Given the description of an element on the screen output the (x, y) to click on. 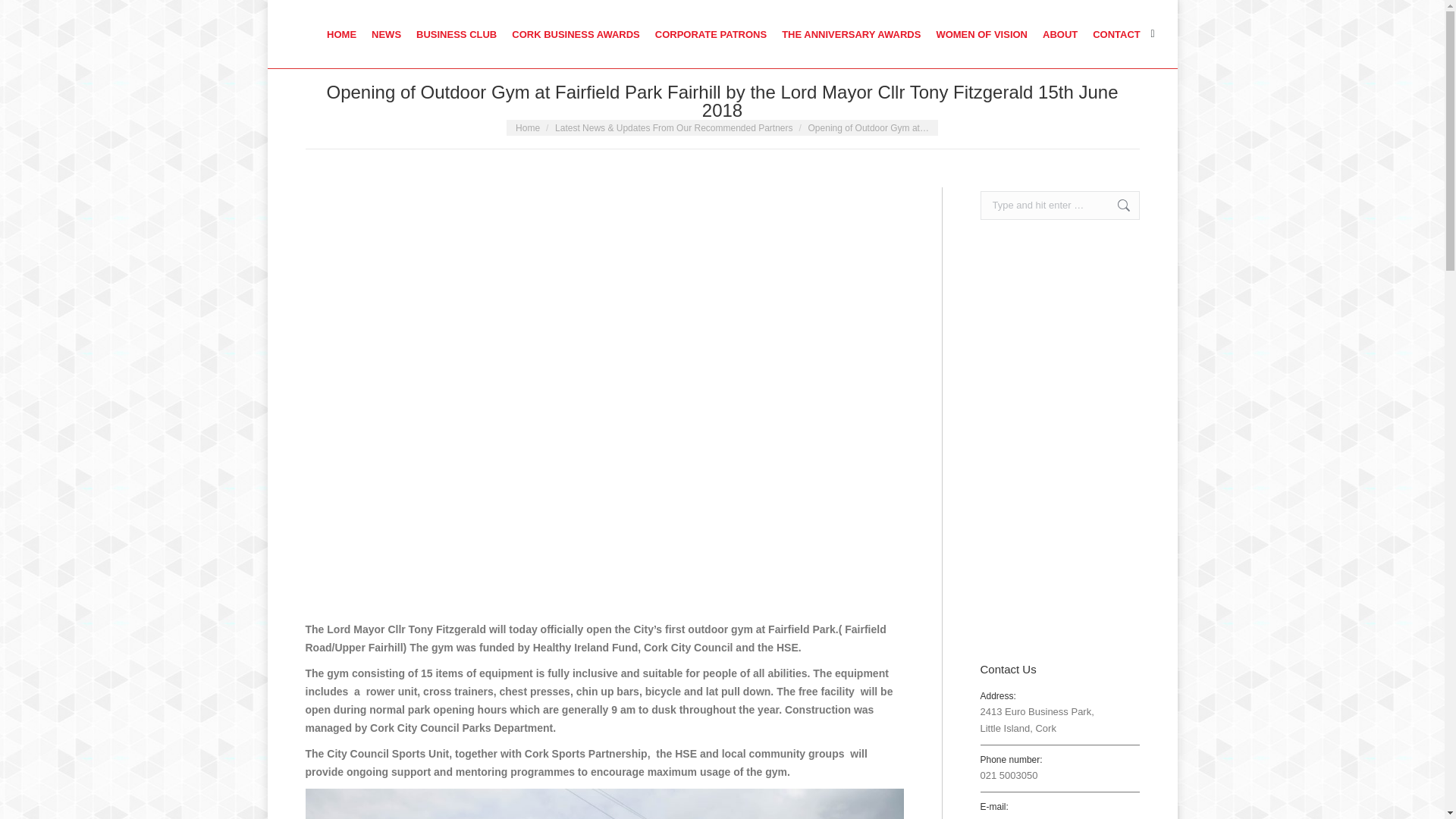
BUSINESS CLUB (456, 33)
CORPORATE PATRONS (710, 33)
Home (527, 127)
Go! (22, 15)
CORK BUSINESS AWARDS (575, 33)
Go! (1115, 205)
Go! (1115, 205)
THE ANNIVERSARY AWARDS (850, 33)
WOMEN OF VISION (980, 33)
Home (527, 127)
